Given the description of an element on the screen output the (x, y) to click on. 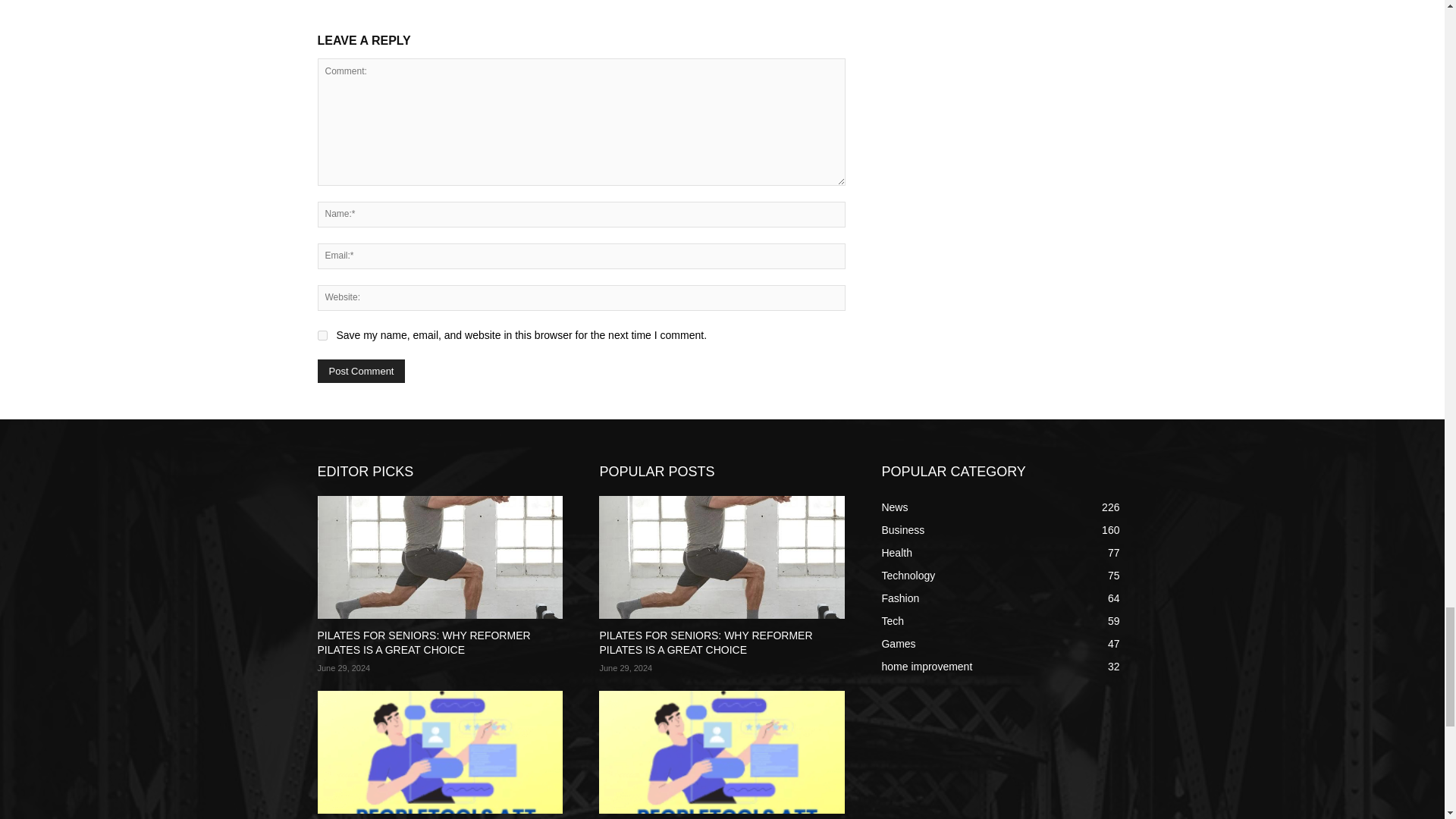
Post Comment (360, 371)
yes (321, 335)
